Given the description of an element on the screen output the (x, y) to click on. 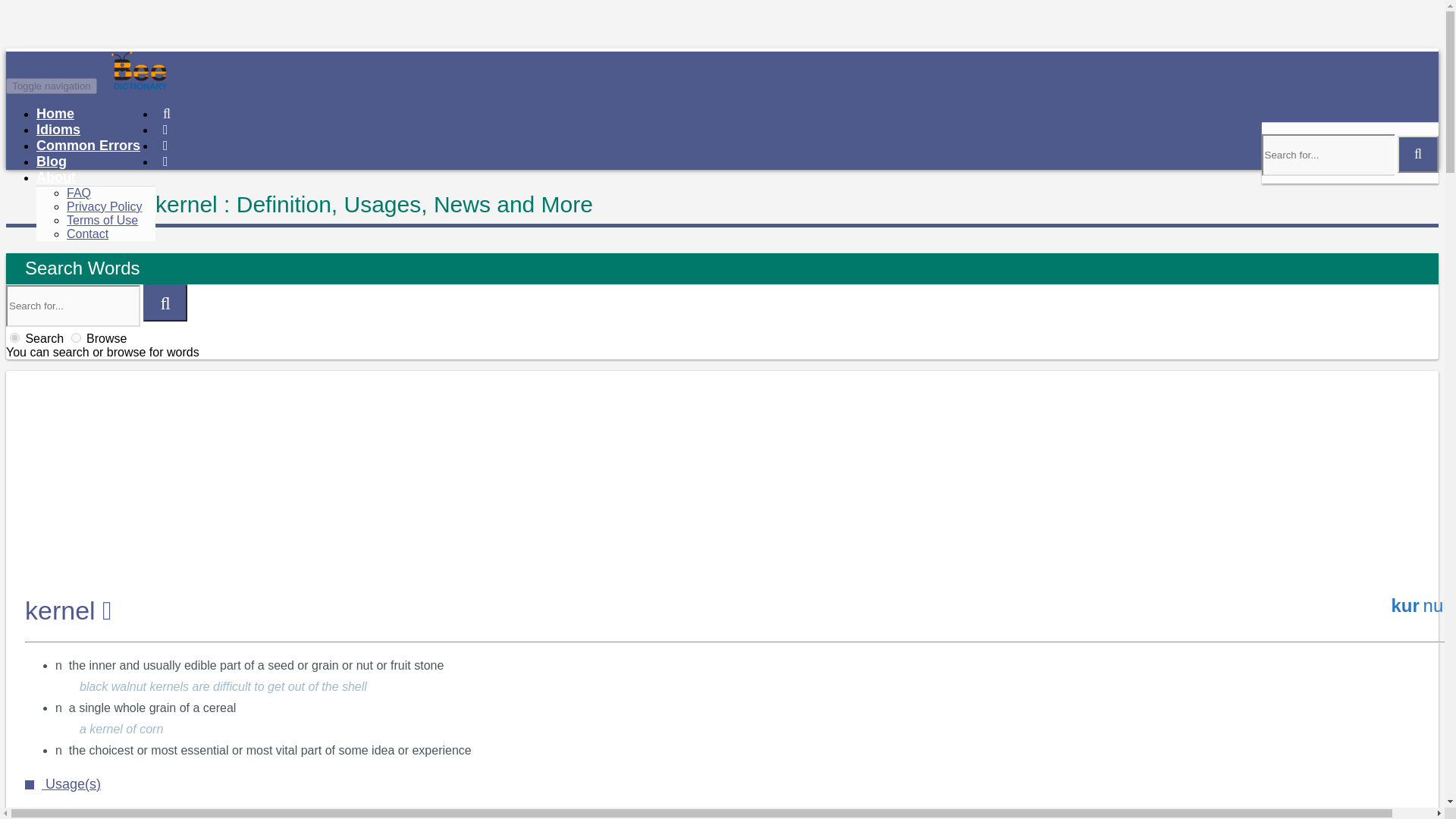
Terms of Use (102, 219)
Toggle navigation (51, 85)
logo (196, 85)
Contact (86, 233)
FAQ (78, 192)
Privacy Policy (104, 205)
search (15, 337)
browse (76, 337)
Idioms (58, 129)
Common Errors (87, 145)
